Given the description of an element on the screen output the (x, y) to click on. 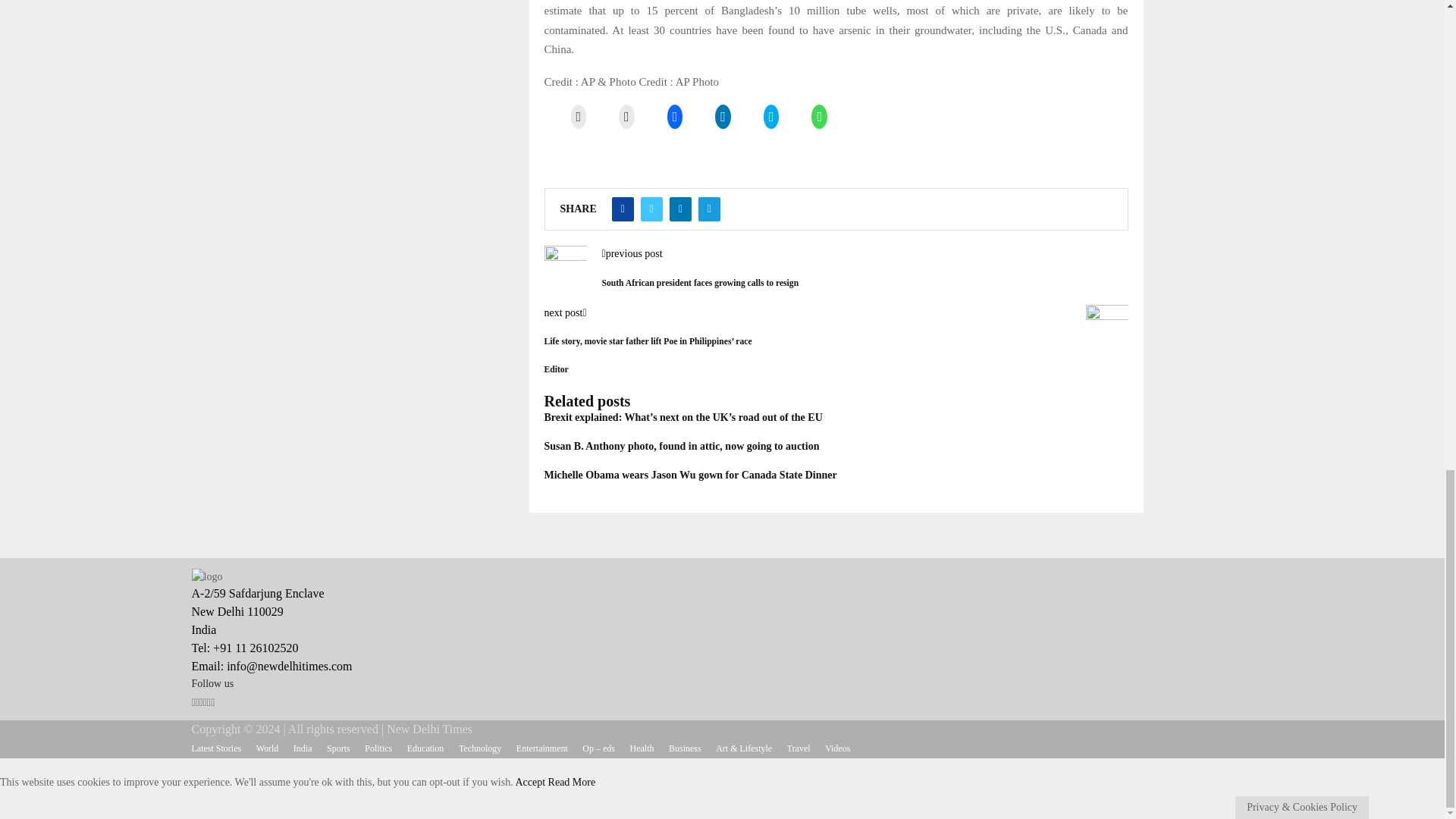
Click to print (626, 116)
Click to share on Facebook (674, 116)
Click to share on LinkedIn (722, 116)
Click to email a link to a friend (578, 116)
